Given the description of an element on the screen output the (x, y) to click on. 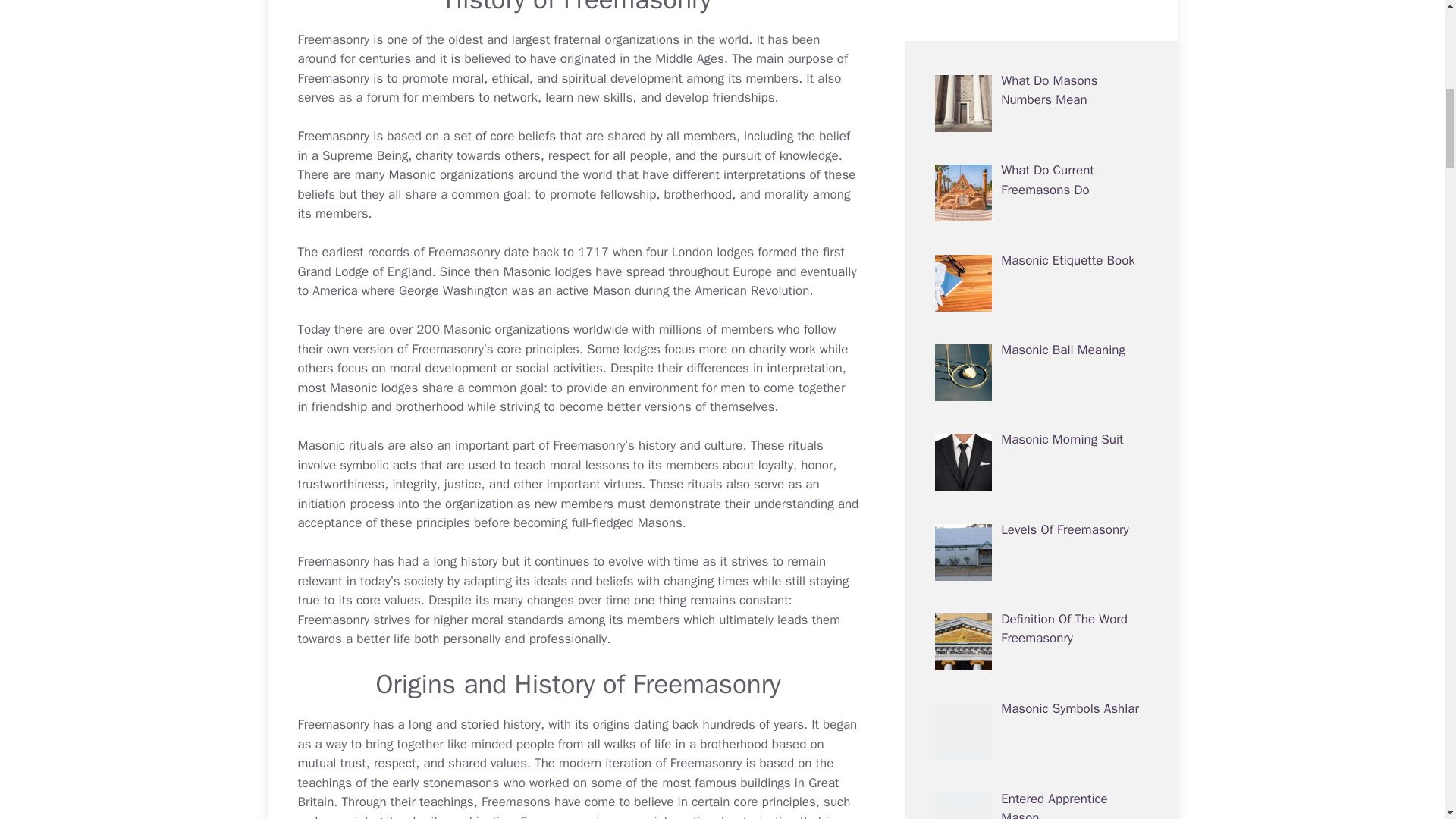
Masons (659, 522)
Masonic organizations (450, 174)
Is The Eastern Star Organization Masonic (450, 174)
Freemasonry (333, 39)
Freemasonry (333, 39)
Scroll back to top (1406, 720)
